Given the description of an element on the screen output the (x, y) to click on. 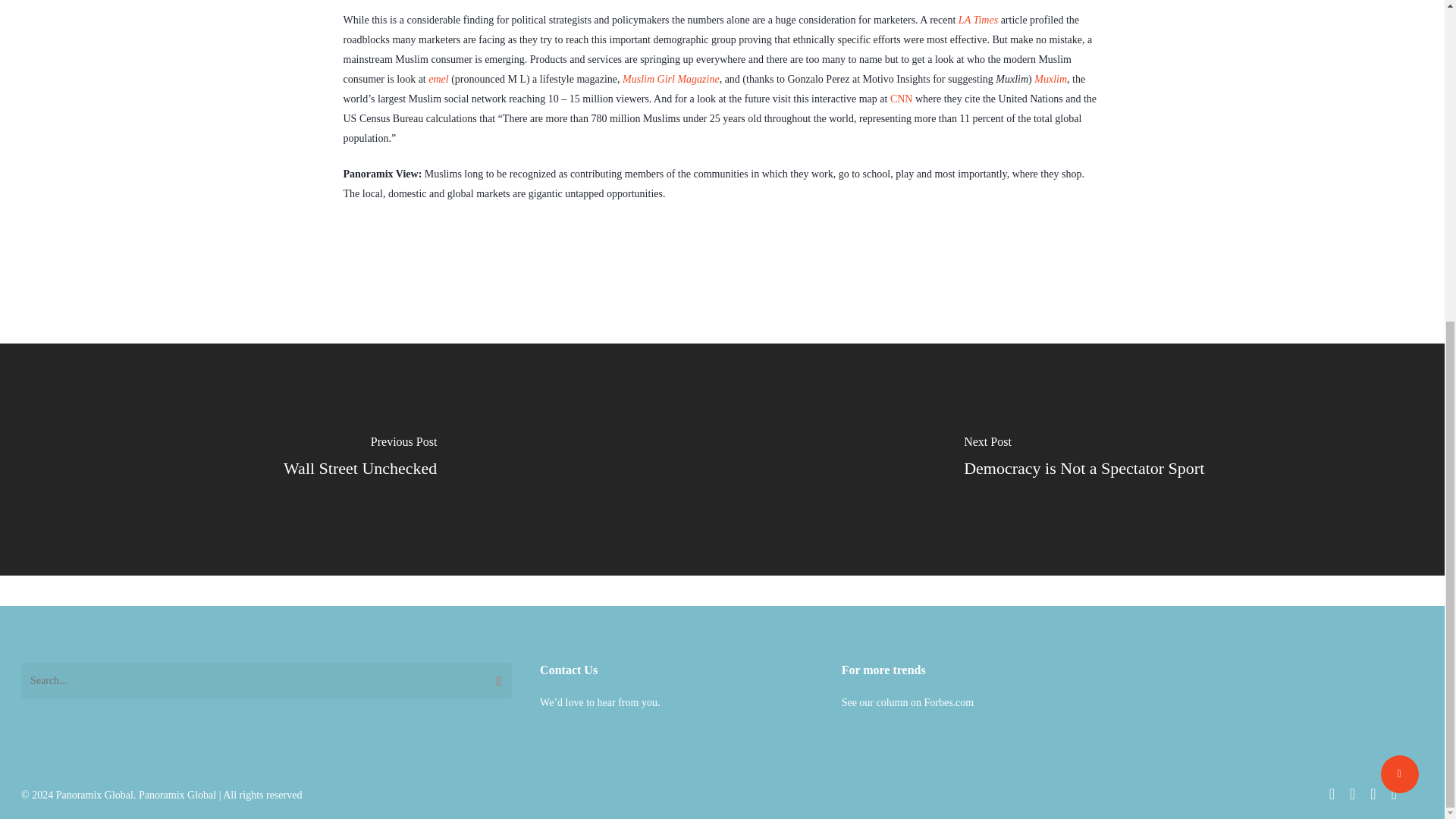
Muxlim (1050, 79)
LA Times (977, 19)
LA Times (977, 19)
Muslim Girl Magazine (671, 79)
CNN (900, 98)
Muslim Girl Magazine (671, 79)
Search for: (266, 680)
emel (438, 79)
CNN (900, 98)
emel (438, 79)
